Given the description of an element on the screen output the (x, y) to click on. 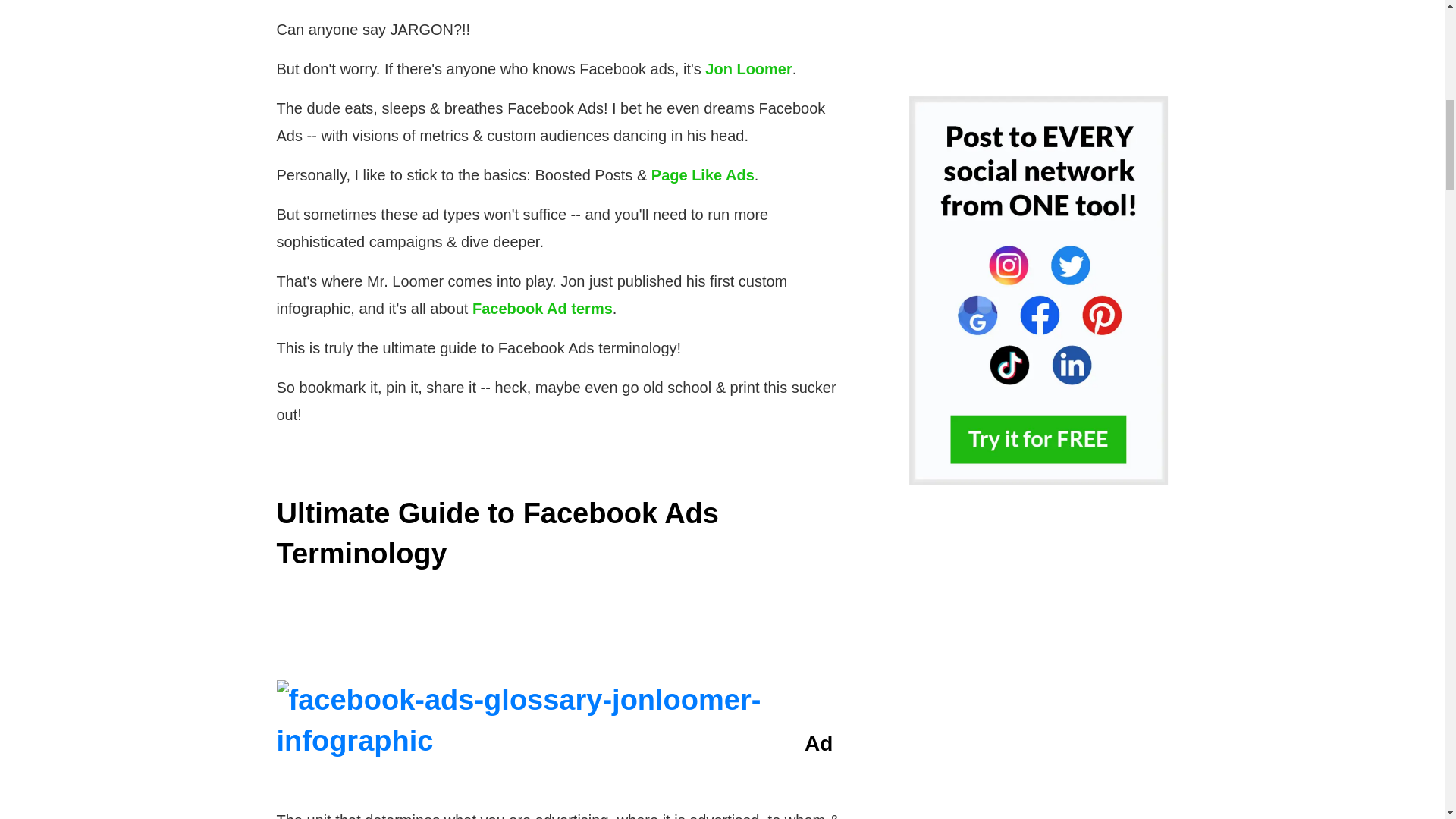
Jon Loomer (748, 68)
Page Like Ads (702, 175)
Facebook Ad terms (541, 308)
